Given the description of an element on the screen output the (x, y) to click on. 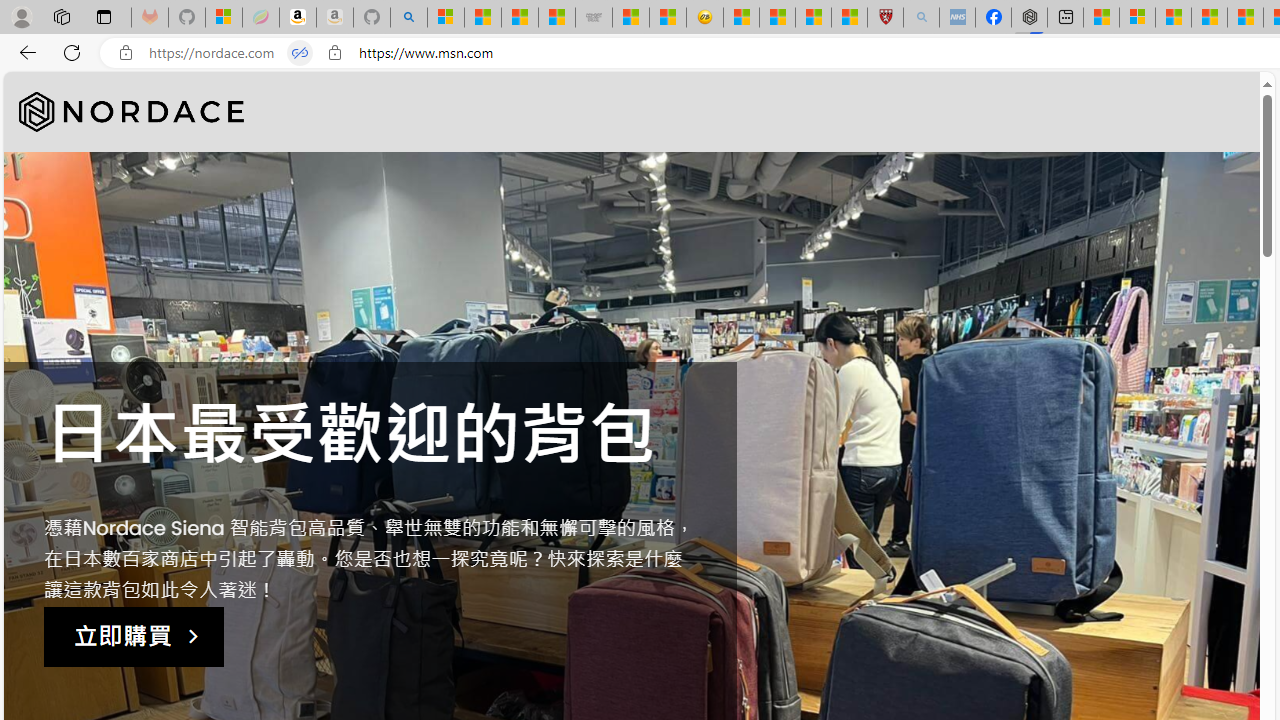
Tabs in split screen (299, 53)
